Given the description of an element on the screen output the (x, y) to click on. 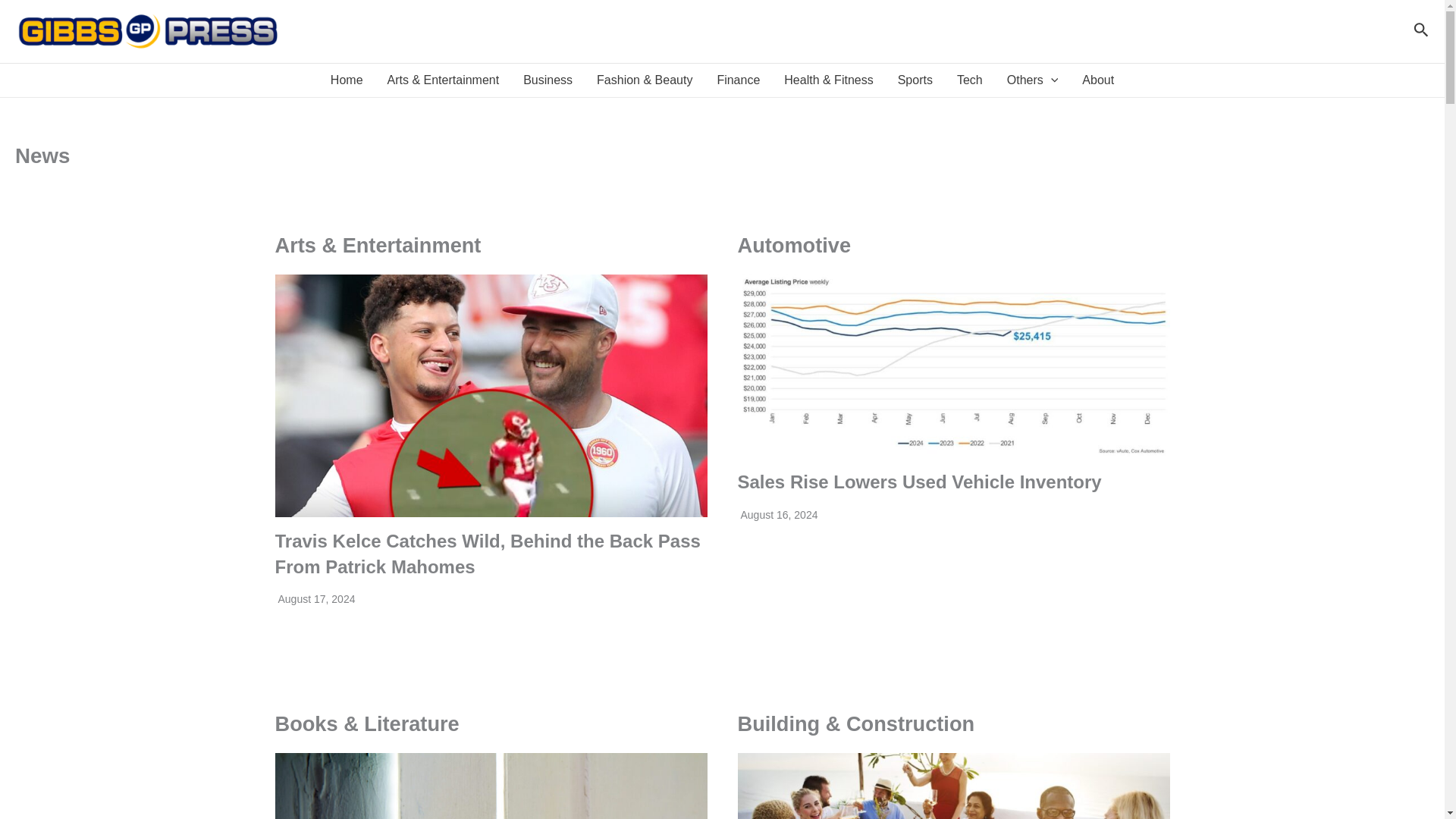
Others (1032, 80)
Sports (914, 80)
About (1097, 80)
Finance (737, 80)
Home (346, 80)
Business (548, 80)
Tech (969, 80)
